Given the description of an element on the screen output the (x, y) to click on. 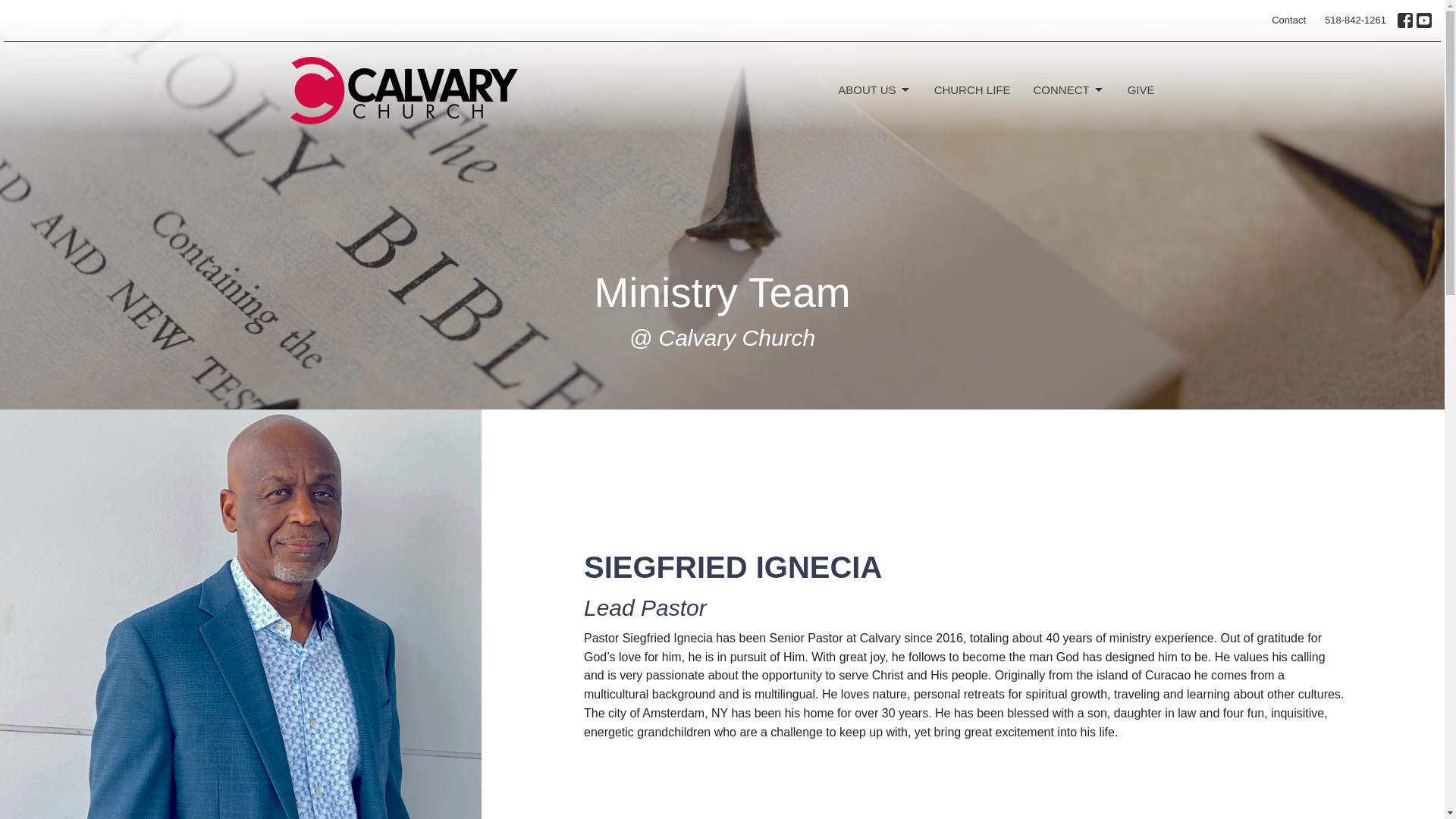
CHURCH LIFE (972, 89)
CONNECT (1067, 89)
ABOUT US (874, 89)
Contact (1288, 20)
GIVE (1140, 89)
518-842-1261 (1355, 20)
